Given the description of an element on the screen output the (x, y) to click on. 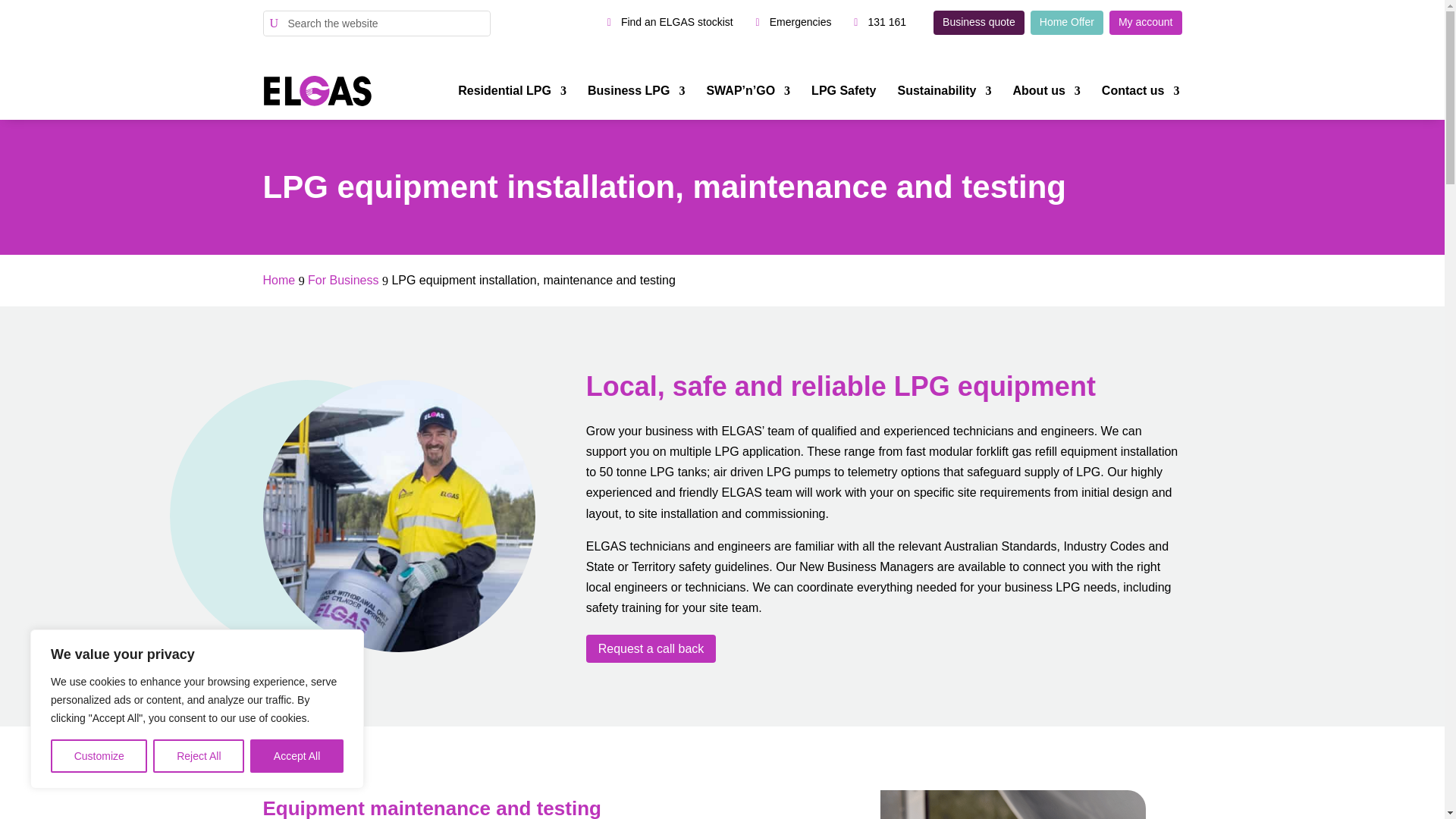
Residential LPG (512, 90)
Home Offer (1066, 22)
Search (24, 12)
Reject All (198, 756)
My account (1145, 22)
131 161 (887, 22)
Business quote (979, 22)
Business LPG (636, 90)
Find an ELGAS stockist (665, 22)
Accept All (296, 756)
Customize (98, 756)
Emergencies (800, 22)
